Given the description of an element on the screen output the (x, y) to click on. 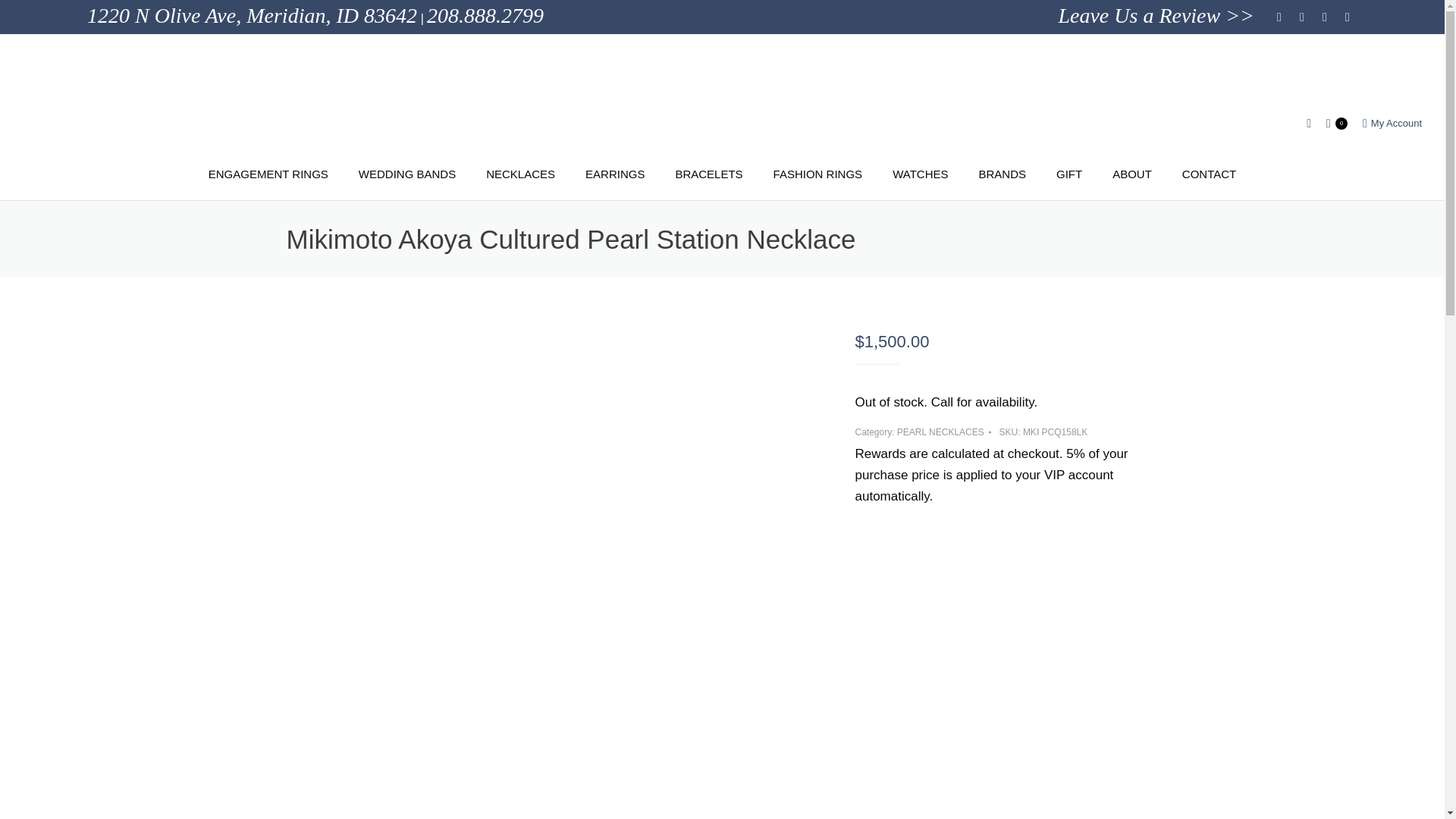
 0 (1337, 123)
Mail page opens in new window (1347, 17)
Instagram page opens in new window (1301, 17)
ENGAGEMENT RINGS (268, 175)
Mail page opens in new window (1347, 17)
208.888.2799 (484, 14)
Facebook page opens in new window (1278, 17)
My Account (1392, 123)
Go! (26, 18)
Facebook page opens in new window (1278, 17)
